Given the description of an element on the screen output the (x, y) to click on. 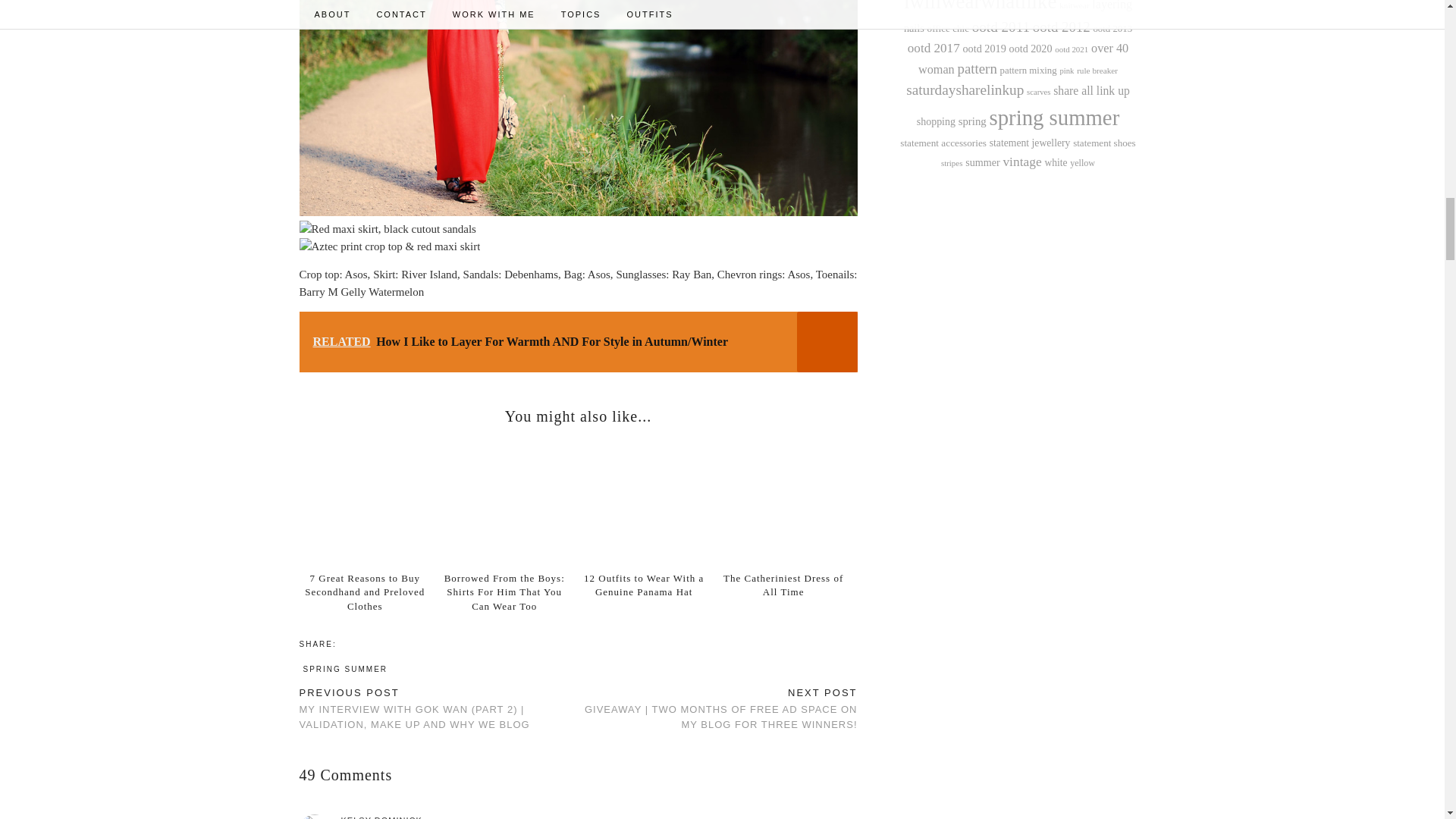
Borrowed From the Boys: Shirts For Him That You Can Wear Too (508, 502)
7 Great Reasons to Buy Secondhand and Preloved Clothes (364, 591)
7 Great Reasons to Buy Secondhand and Preloved Clothes (368, 502)
7 Great Reasons to Buy Secondhand and Preloved Clothes (364, 591)
12 Outfits to Wear With a Genuine Panama Hat (647, 502)
Borrowed From the Boys: Shirts For Him That You Can Wear Too (504, 591)
